Given the description of an element on the screen output the (x, y) to click on. 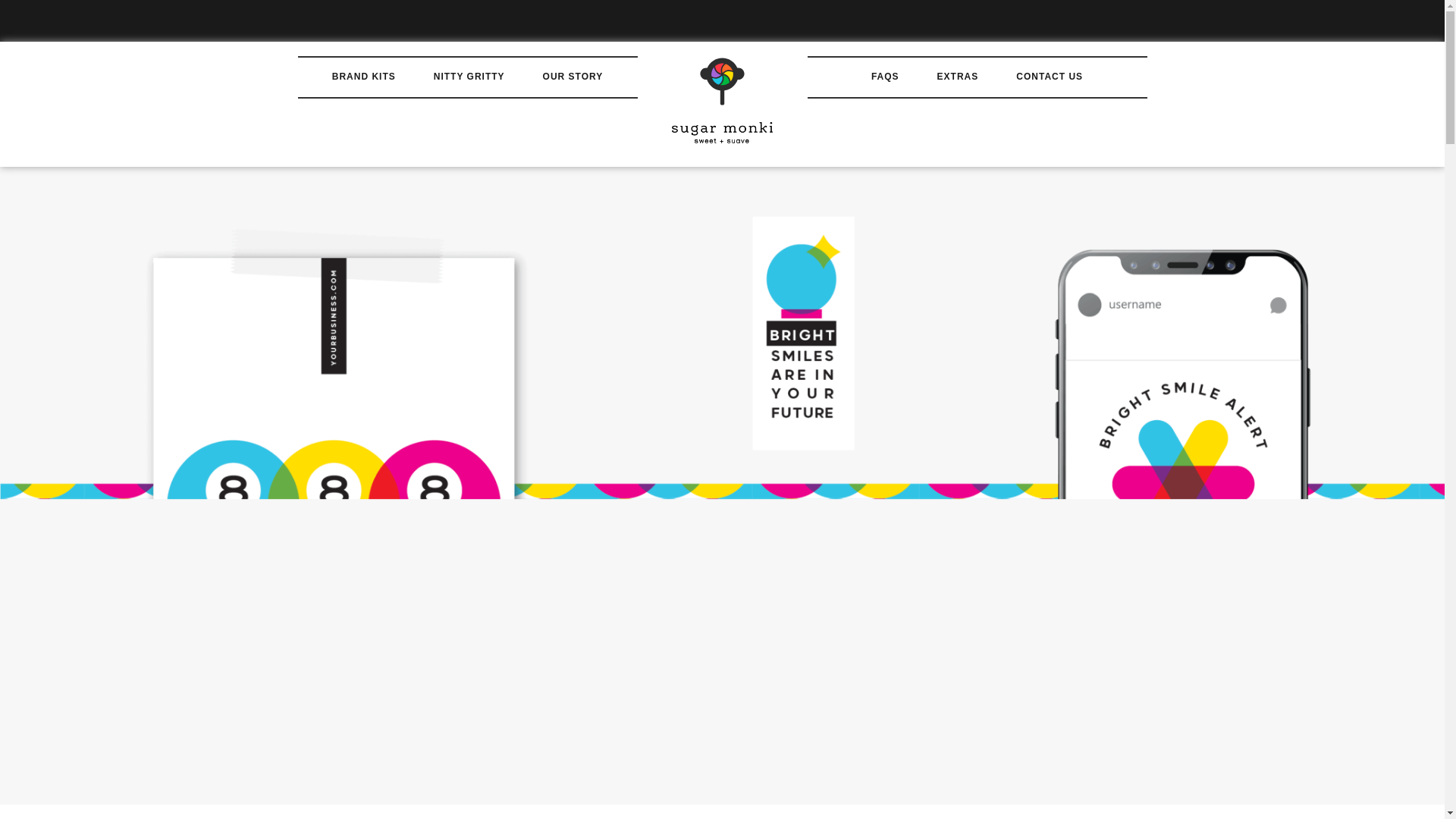
CONTACT US (1049, 77)
OUR STORY (573, 77)
FAQS (884, 77)
EXTRAS (957, 77)
BRAND KITS (363, 77)
NITTY GRITTY (469, 77)
